Given the description of an element on the screen output the (x, y) to click on. 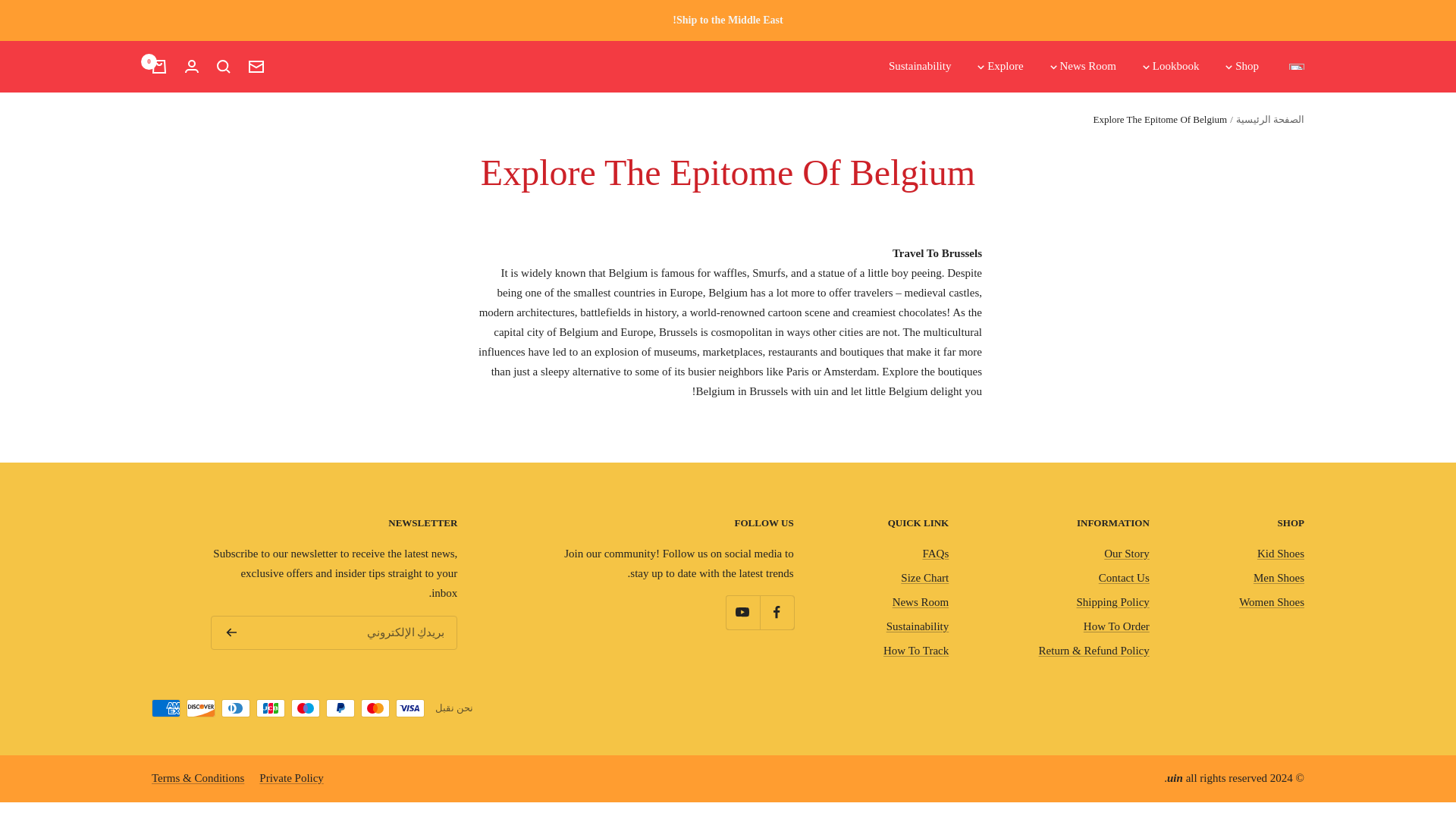
Kid Shoes (1280, 554)
Women Shoes (1271, 602)
News Room (1082, 66)
How To Order (1116, 627)
Sustainability (920, 66)
Shop (1241, 66)
FAQs (935, 554)
Shipping Policy (1113, 602)
Contact Us (1124, 578)
News Room (920, 602)
Explore (999, 66)
How To Track (916, 650)
Lookbook (1169, 66)
Our Story (1126, 554)
Sustainability (917, 627)
